Given the description of an element on the screen output the (x, y) to click on. 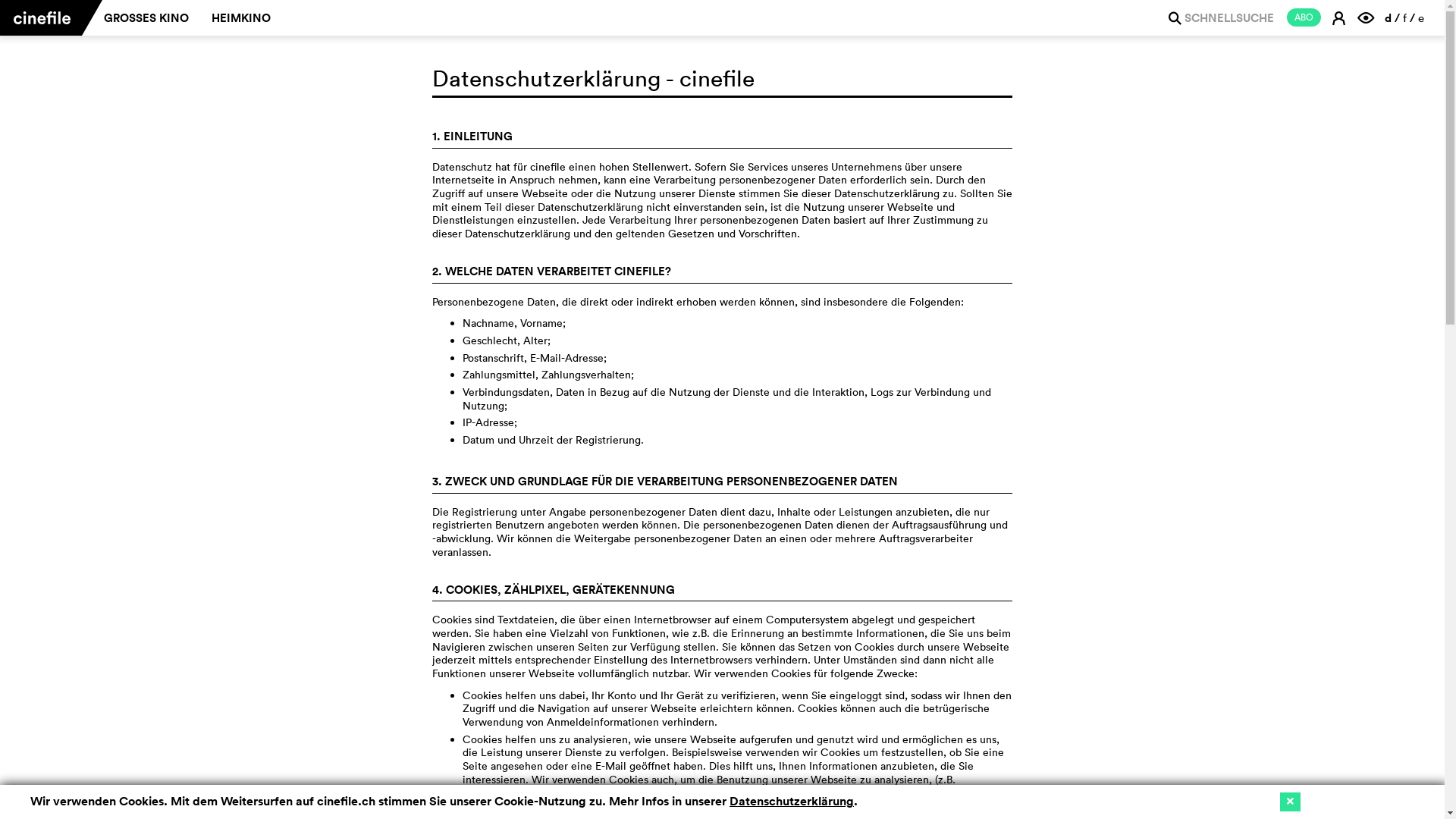
f Element type: text (1404, 17)
E Element type: text (1340, 17)
F Element type: text (1367, 17)
GROSSES KINO Element type: text (146, 17)
HEIMKINO Element type: text (241, 17)
e Element type: text (1421, 17)
d Element type: text (1387, 17)
